Given the description of an element on the screen output the (x, y) to click on. 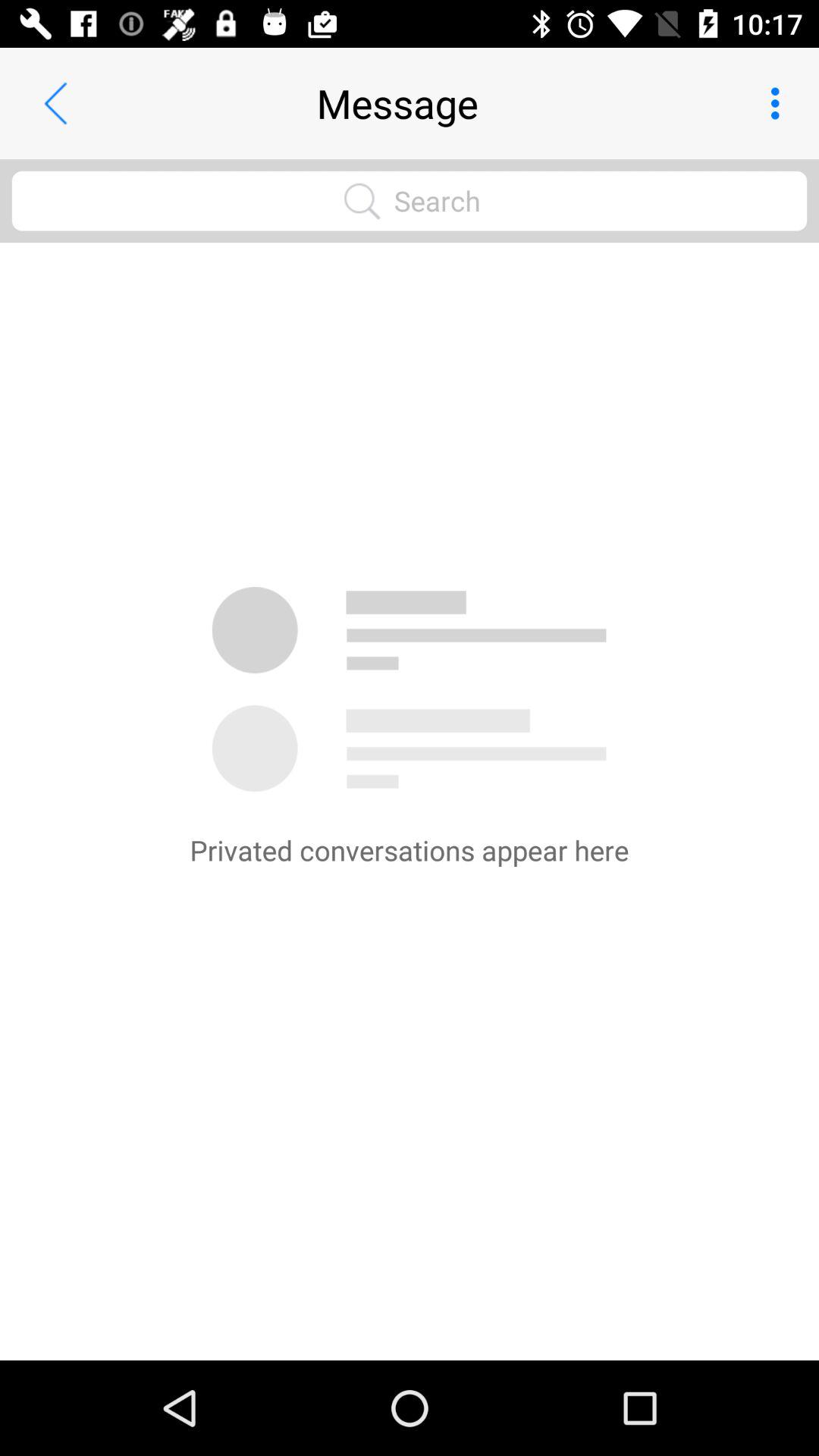
open item to the left of the message (55, 103)
